Given the description of an element on the screen output the (x, y) to click on. 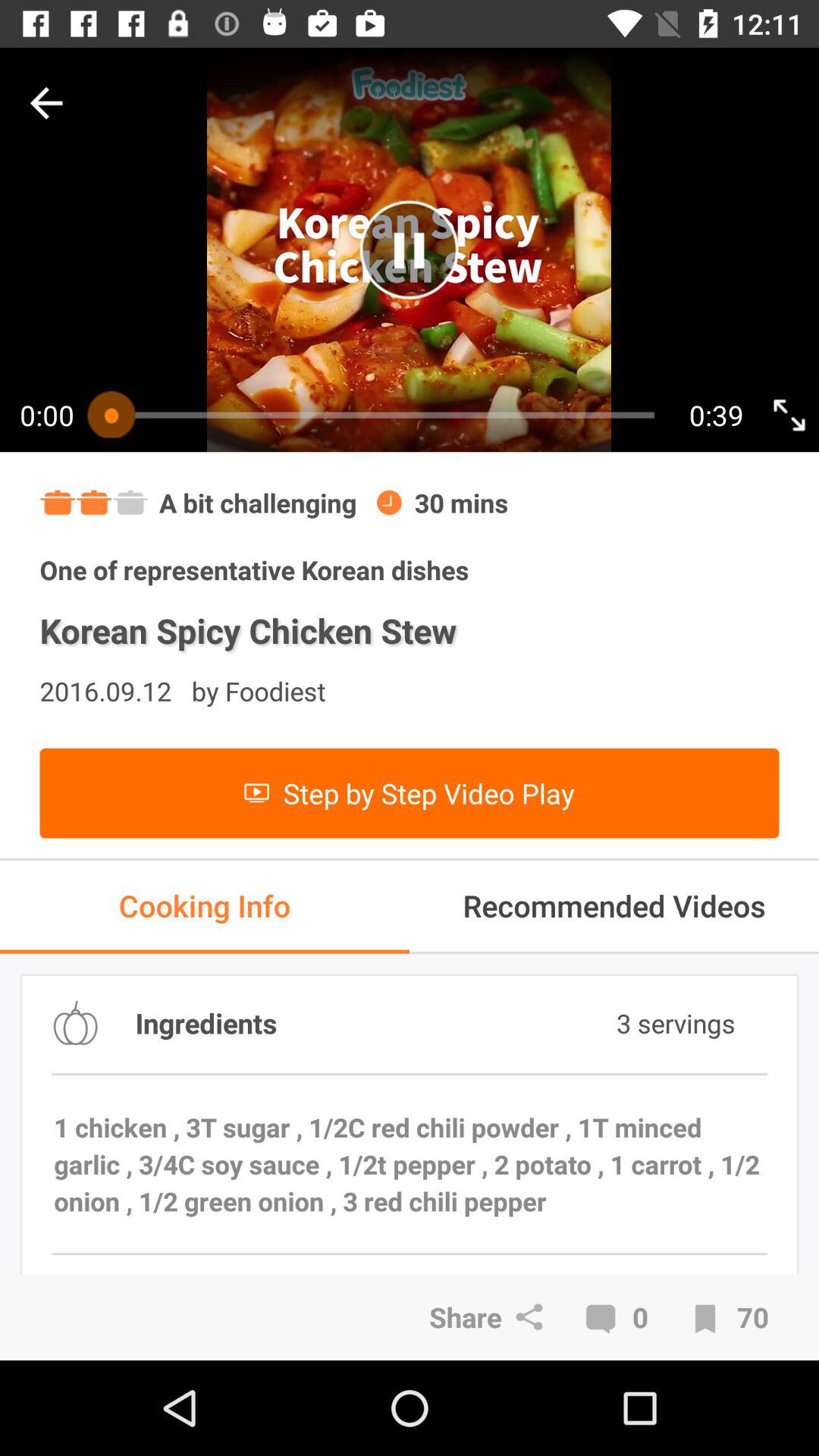
click for full screen (789, 414)
